Given the description of an element on the screen output the (x, y) to click on. 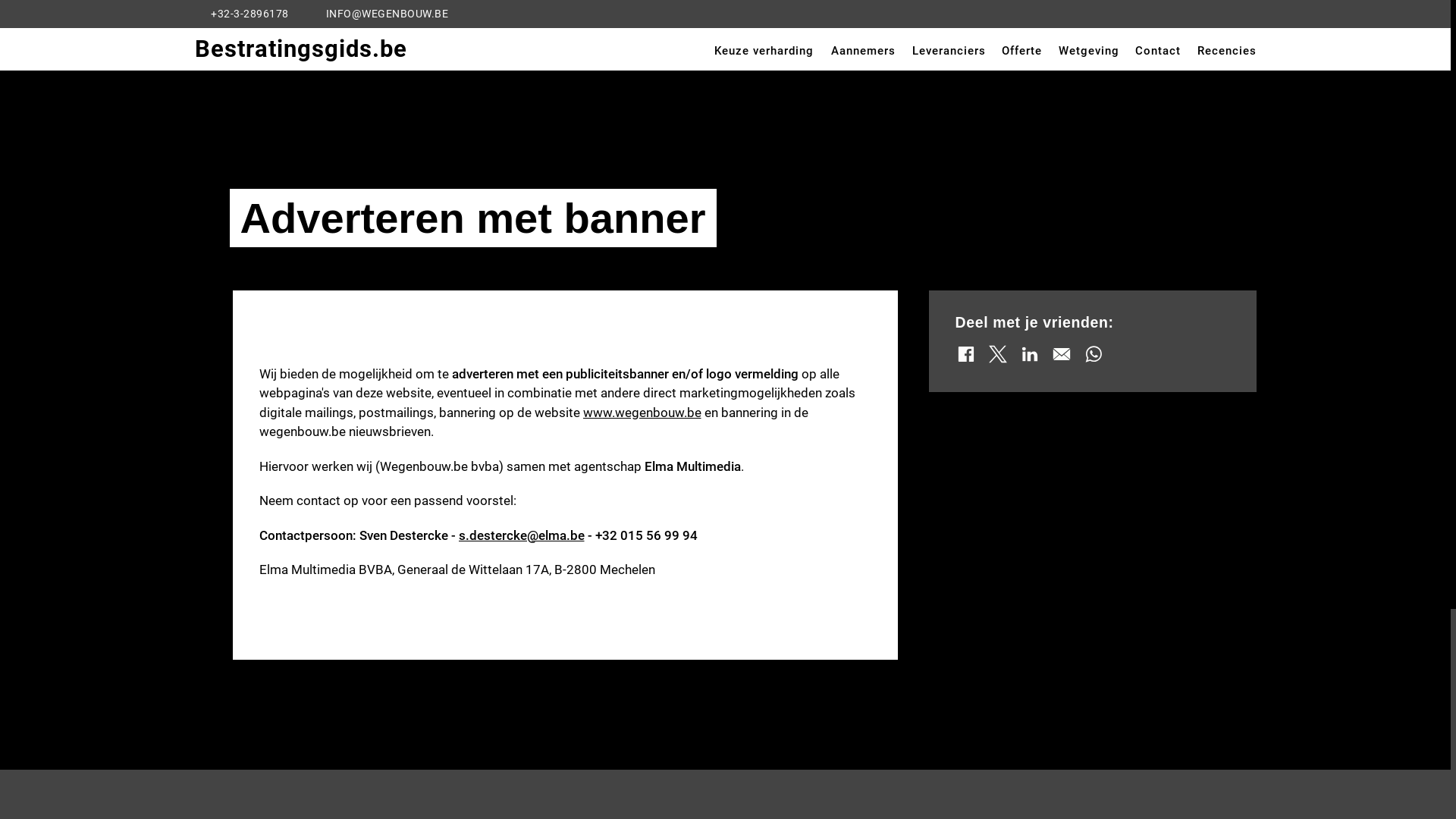
Share via facebook Element type: hover (965, 353)
Share via linkedin Element type: hover (1029, 353)
s.destercke@elma.be Element type: text (520, 536)
Recencies Element type: text (1225, 51)
Offerte Element type: text (1021, 51)
+32-3-2896178 Element type: text (241, 13)
Share via whatsapp Element type: hover (1093, 353)
Leveranciers Element type: text (948, 51)
Share via X Element type: hover (997, 353)
www.wegenbouw.be Element type: text (641, 413)
Share via mail Element type: hover (1061, 353)
Wetgeving Element type: text (1088, 51)
Contact Element type: text (1157, 51)
INFO@WEGENBOUW.BE Element type: text (378, 13)
Keuze verharding Element type: text (763, 51)
Bestratingsgids.be Element type: text (300, 49)
